Given the description of an element on the screen output the (x, y) to click on. 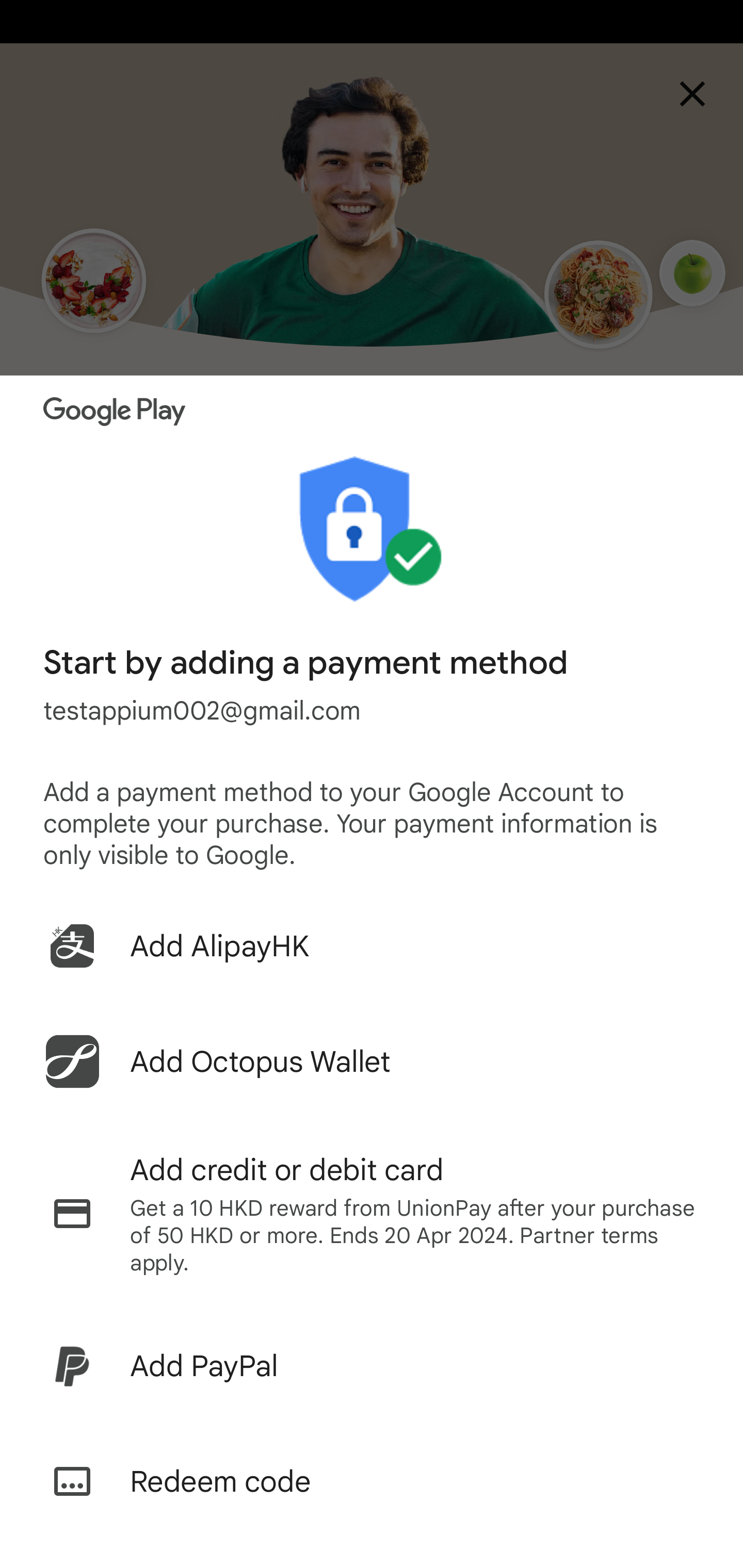
Add AlipayHK (371, 945)
Add Octopus Wallet (371, 1061)
Add PayPal (371, 1365)
Redeem code (371, 1481)
